Given the description of an element on the screen output the (x, y) to click on. 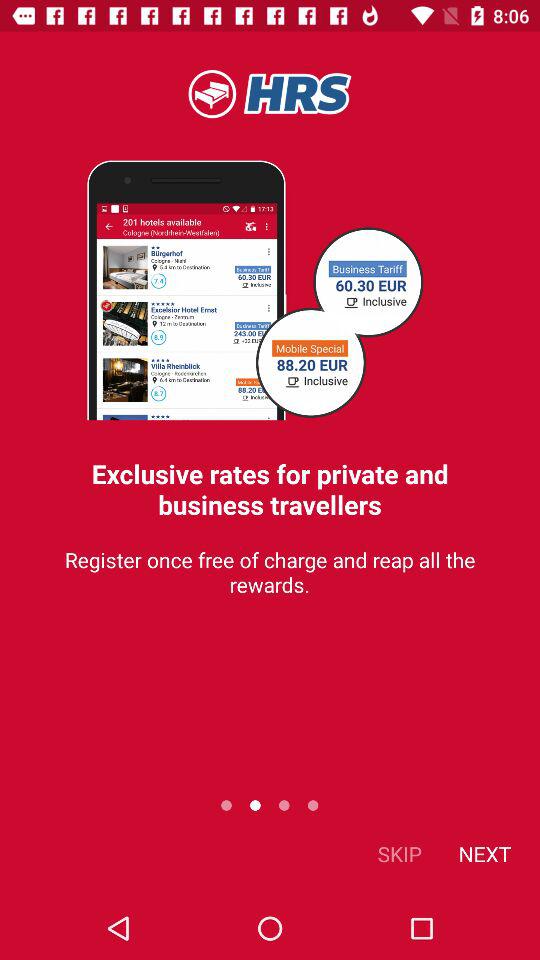
turn on icon next to the next (399, 853)
